Given the description of an element on the screen output the (x, y) to click on. 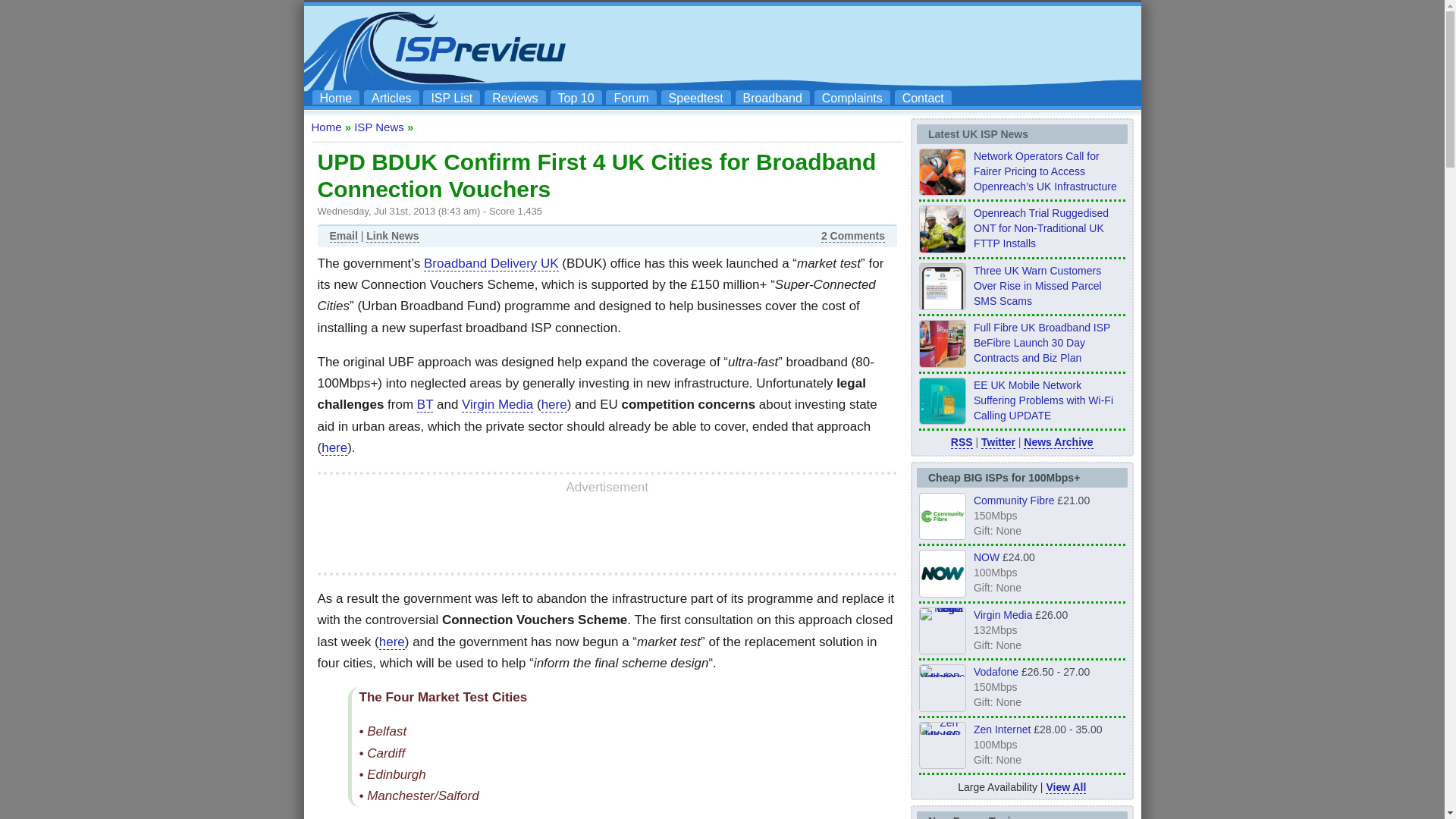
Speedtest (695, 97)
ISP List (451, 97)
Reviews (514, 97)
here (554, 404)
UK ISP List and Comparisons (451, 97)
Email (342, 236)
Reader ISP Reviews (514, 97)
Consumer UK ISP Complaints and Advice (851, 97)
here (334, 447)
Articles (391, 97)
BT (424, 404)
here (391, 642)
2 Comments (853, 236)
Special Editorial Articles (391, 97)
Link News (392, 236)
